Given the description of an element on the screen output the (x, y) to click on. 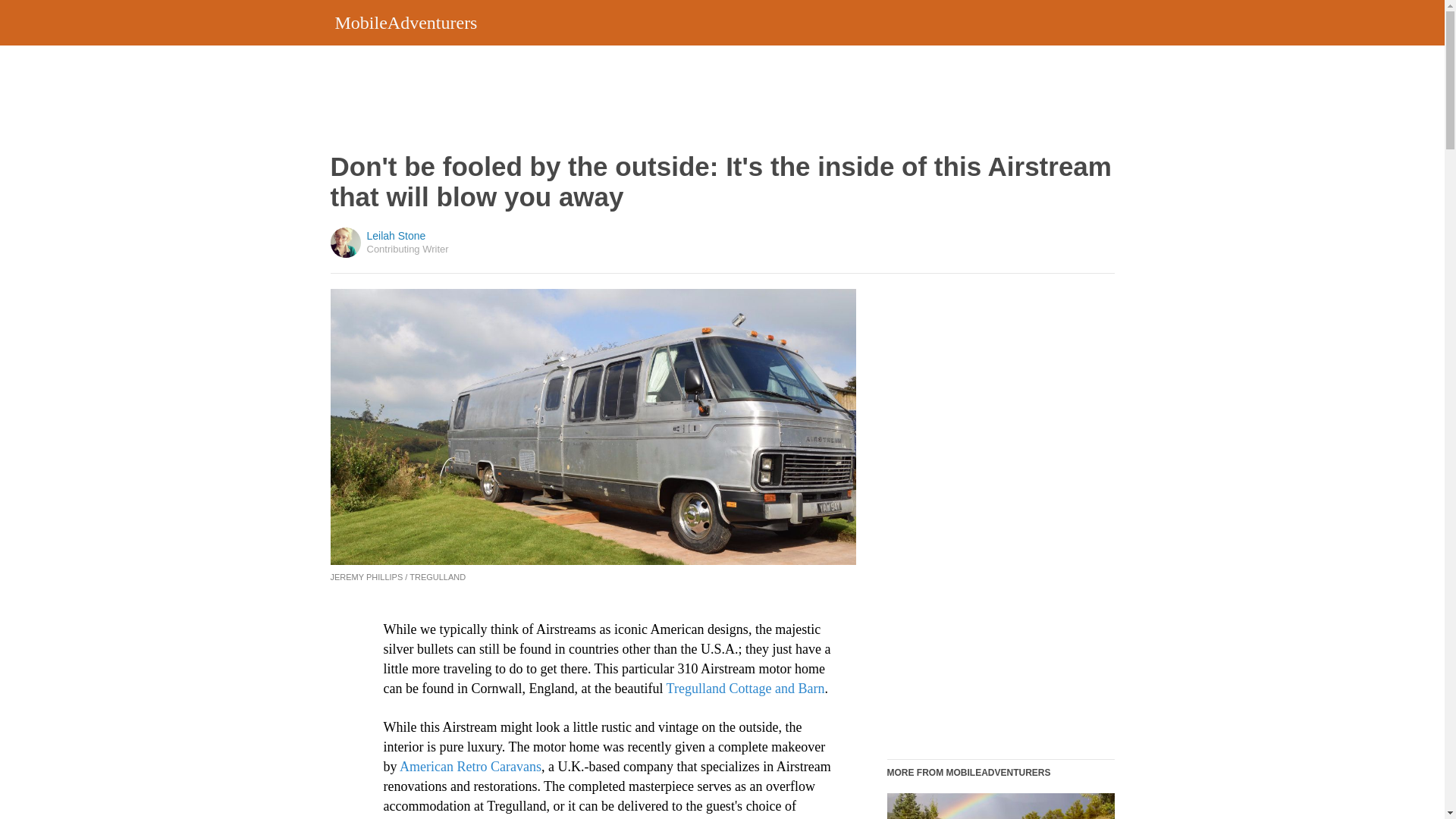
MobileAdventurers (405, 21)
Advertisement (719, 98)
Tregulland Cottage and Barn (745, 688)
Advertisement (999, 516)
American Retro Caravans (469, 766)
